Given the description of an element on the screen output the (x, y) to click on. 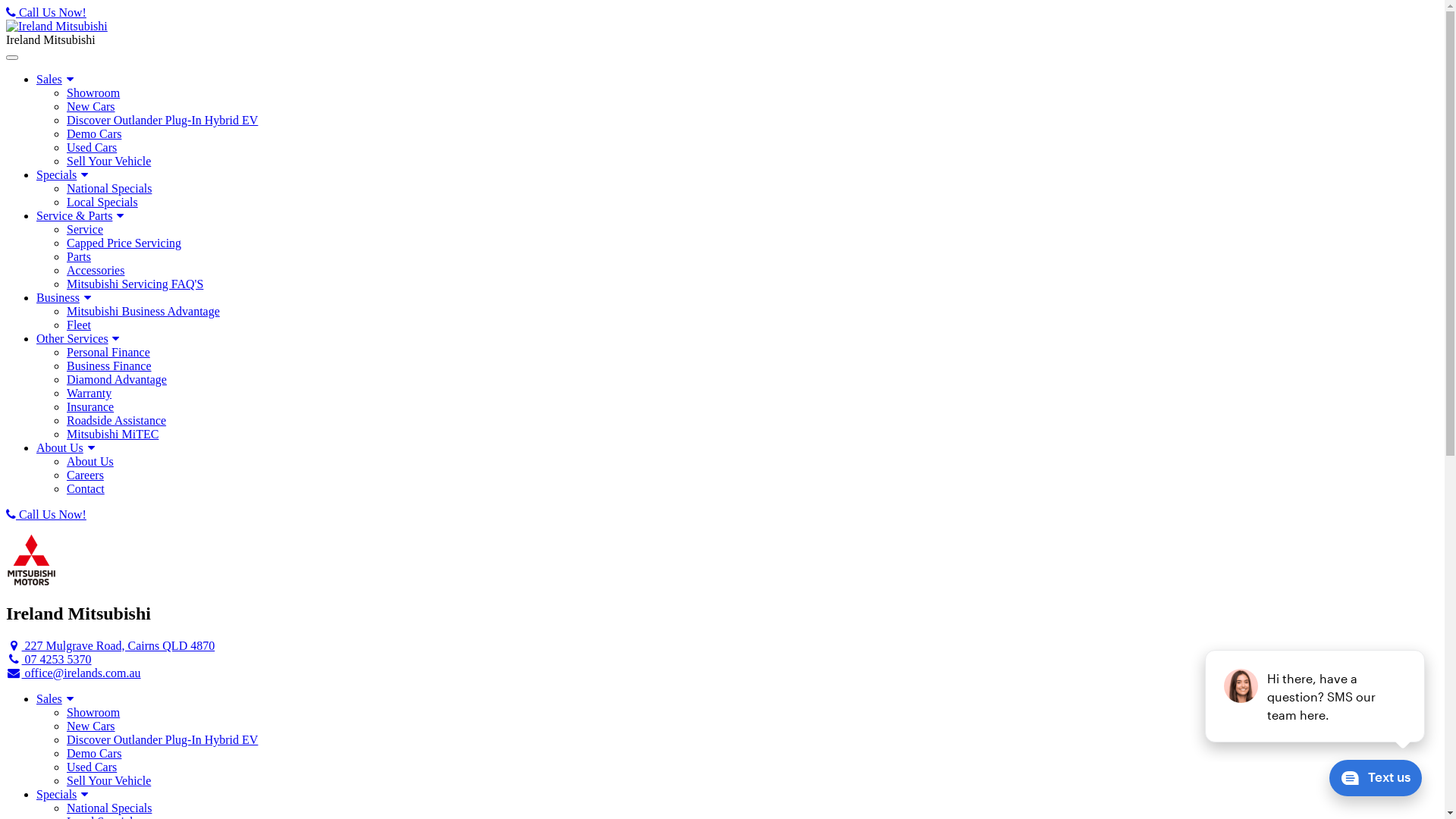
Call Us Now! Element type: text (722, 514)
07 4253 5370 Element type: text (48, 658)
Accessories Element type: text (752, 270)
Local Specials Element type: text (752, 202)
Used Cars Element type: text (752, 147)
Roadside Assistance Element type: text (752, 420)
About Us Element type: text (752, 461)
Mitsubishi MiTEC Element type: text (752, 434)
Sell Your Vehicle Element type: text (752, 161)
Insurance Element type: text (752, 407)
Sell Your Vehicle Element type: text (752, 780)
Showroom Element type: text (752, 93)
Call Us Now! Element type: text (722, 12)
podium webchat widget prompt Element type: hover (1315, 696)
Capped Price Servicing Element type: text (752, 243)
New Cars Element type: text (752, 106)
Showroom Element type: text (752, 712)
Warranty Element type: text (752, 393)
Service Element type: text (752, 229)
Parts Element type: text (752, 256)
227 Mulgrave Road, Cairns QLD 4870 Element type: text (110, 645)
New Cars Element type: text (752, 726)
Diamond Advantage Element type: text (752, 379)
Discover Outlander Plug-In Hybrid EV Element type: text (752, 739)
Careers Element type: text (752, 475)
Fleet Element type: text (752, 325)
Mitsubishi Servicing FAQ'S Element type: text (752, 284)
Discover Outlander Plug-In Hybrid EV Element type: text (752, 120)
Demo Cars Element type: text (752, 753)
Contact Element type: text (752, 488)
Other Services Element type: text (79, 338)
Specials Element type: text (64, 174)
Used Cars Element type: text (752, 767)
National Specials Element type: text (752, 808)
Demo Cars Element type: text (752, 134)
Personal Finance Element type: text (752, 352)
Specials Element type: text (64, 793)
office@irelands.com.au Element type: text (73, 672)
About Us Element type: text (67, 447)
Business Finance Element type: text (752, 366)
Mitsubishi Business Advantage Element type: text (752, 311)
Sales Element type: text (56, 698)
Business Element type: text (65, 297)
Sales Element type: text (56, 78)
National Specials Element type: text (752, 188)
Service & Parts Element type: text (82, 215)
